Given the description of an element on the screen output the (x, y) to click on. 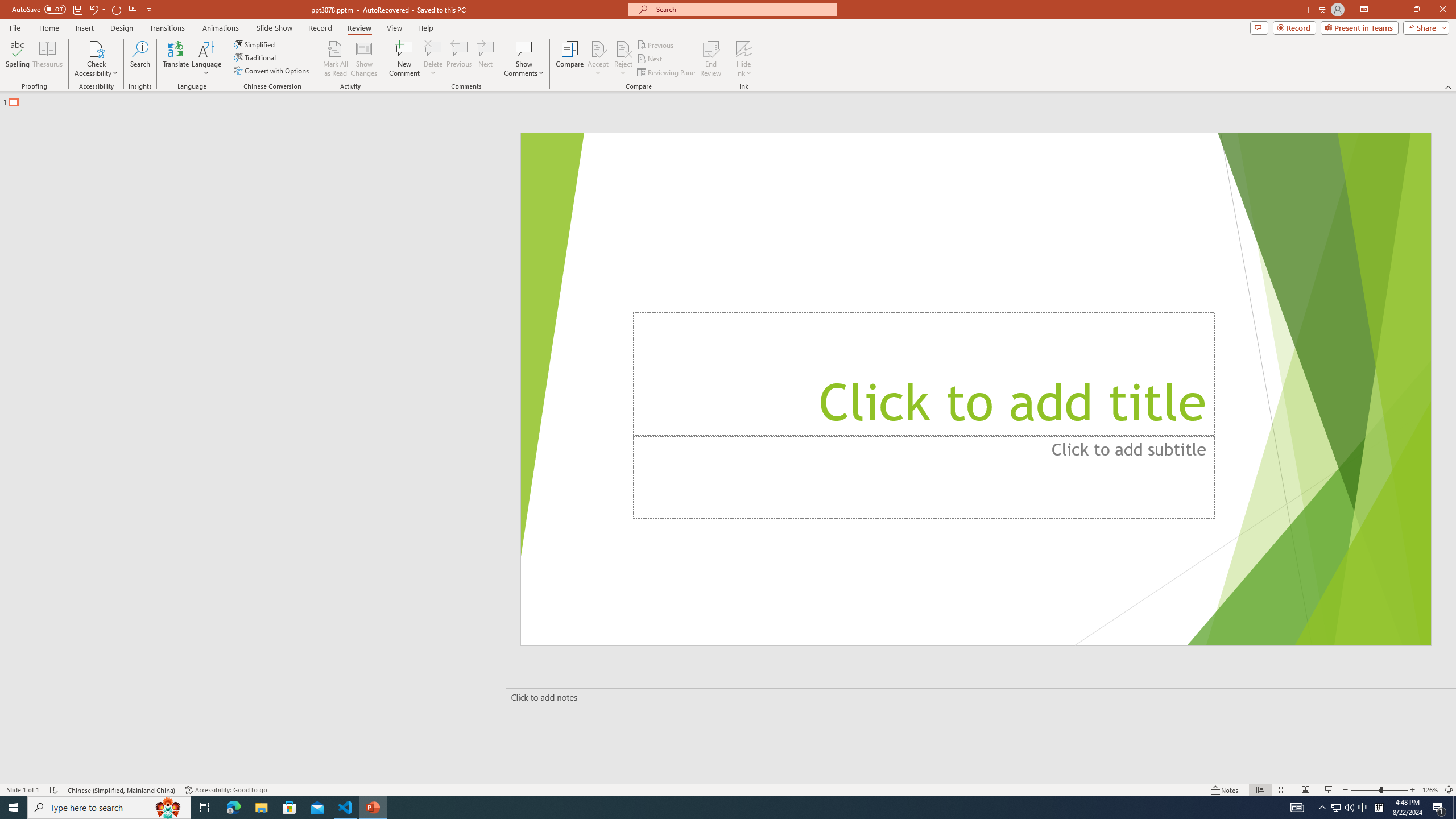
Reviewing Pane (666, 72)
Next (649, 58)
Reject Change (622, 48)
